Given the description of an element on the screen output the (x, y) to click on. 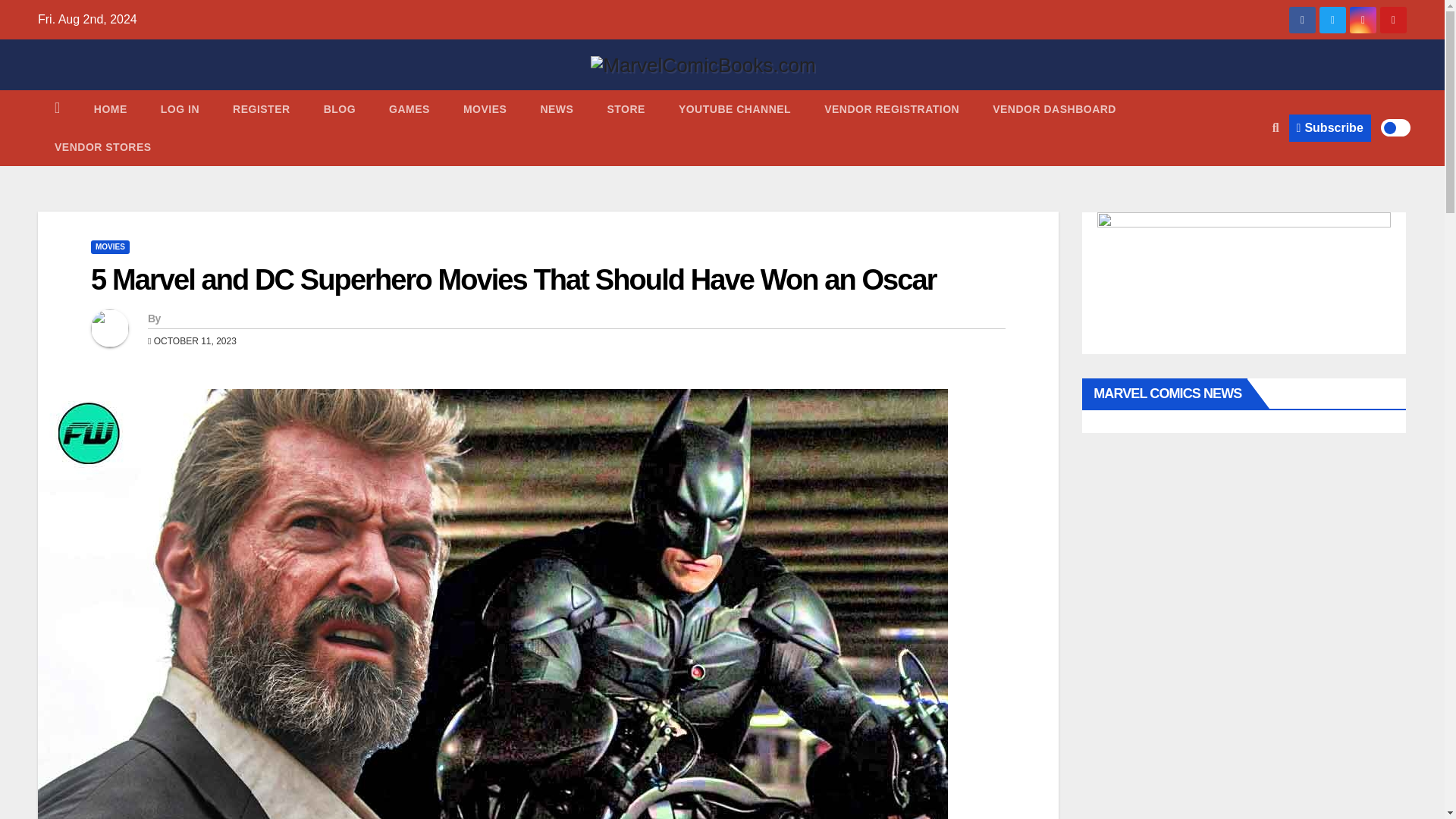
LOG IN (179, 108)
REGISTER (261, 108)
NEWS (555, 108)
HOME (110, 108)
VENDOR REGISTRATION (891, 108)
Blog (339, 108)
YOUTUBE CHANNEL (735, 108)
BLOG (339, 108)
VENDOR STORES (102, 146)
STORE (625, 108)
Subscribe (1329, 127)
Movies (484, 108)
Home (57, 108)
Home (110, 108)
MOVIES (484, 108)
